Given the description of an element on the screen output the (x, y) to click on. 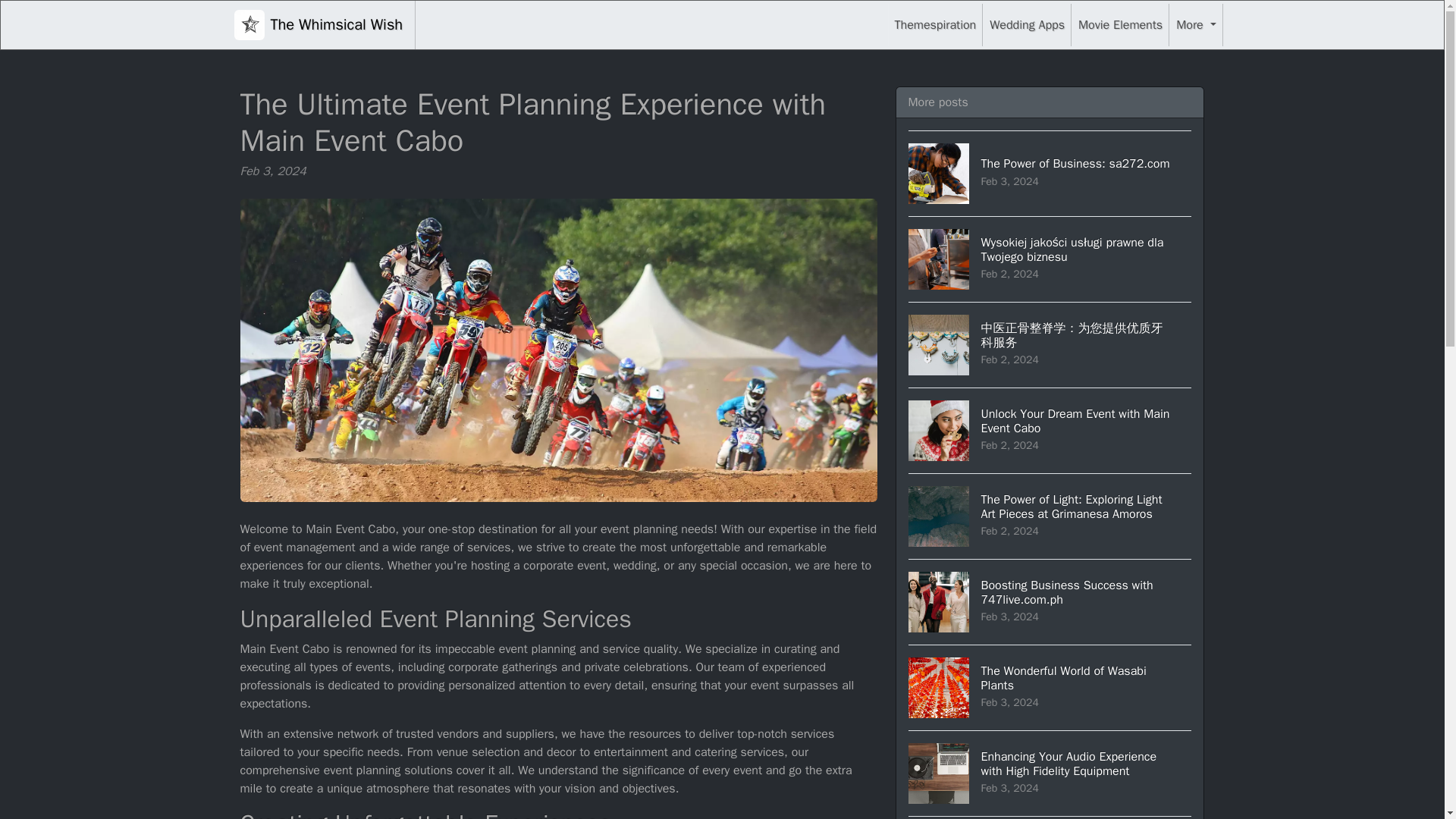
More (1050, 430)
Wedding Apps (1050, 817)
Movie Elements (1196, 24)
The Whimsical Wish (1026, 24)
